Given the description of an element on the screen output the (x, y) to click on. 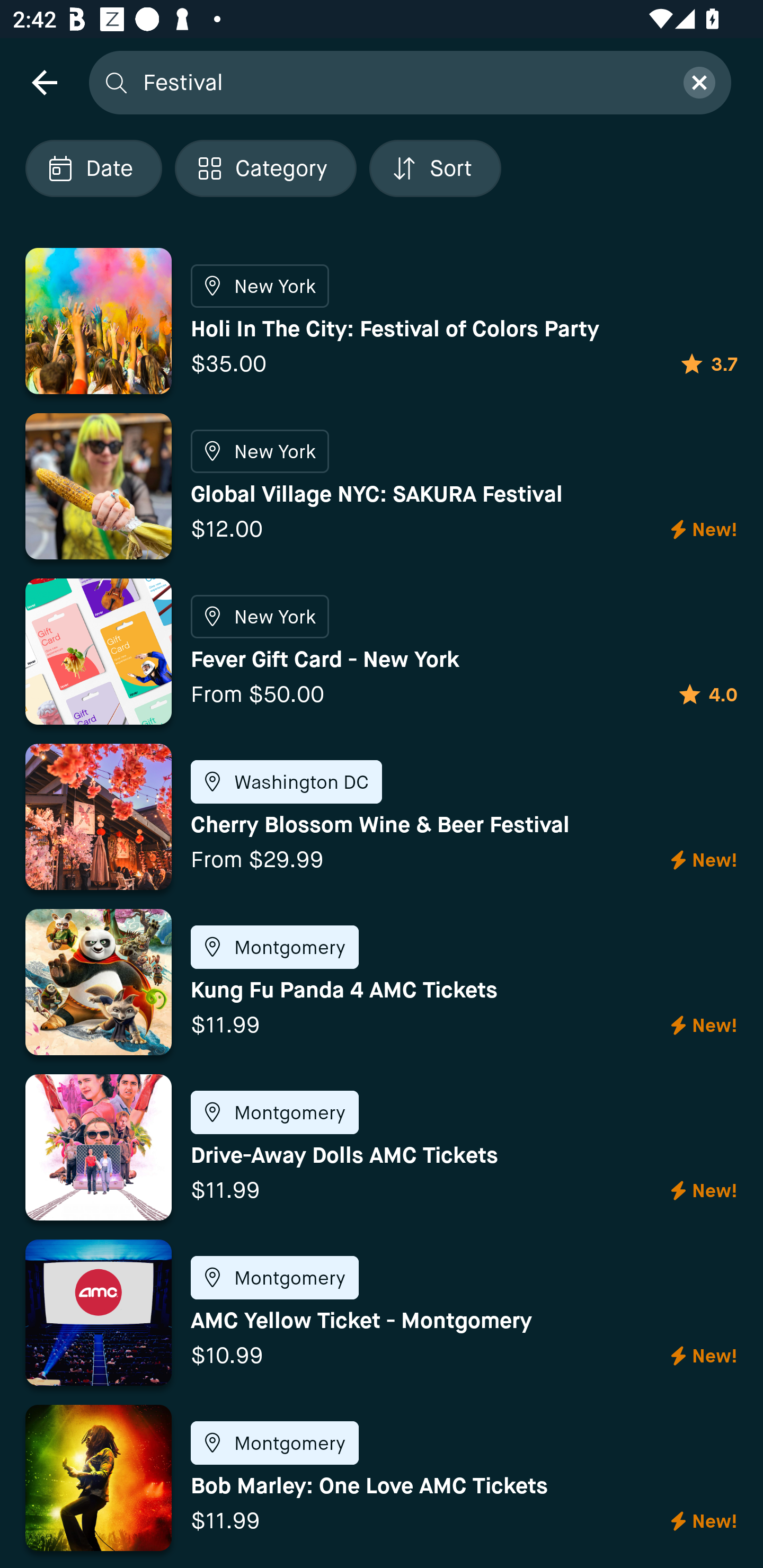
navigation icon (44, 81)
Festival (402, 81)
Localized description Date (93, 168)
Localized description Category (265, 168)
Localized description Sort (435, 168)
